Given the description of an element on the screen output the (x, y) to click on. 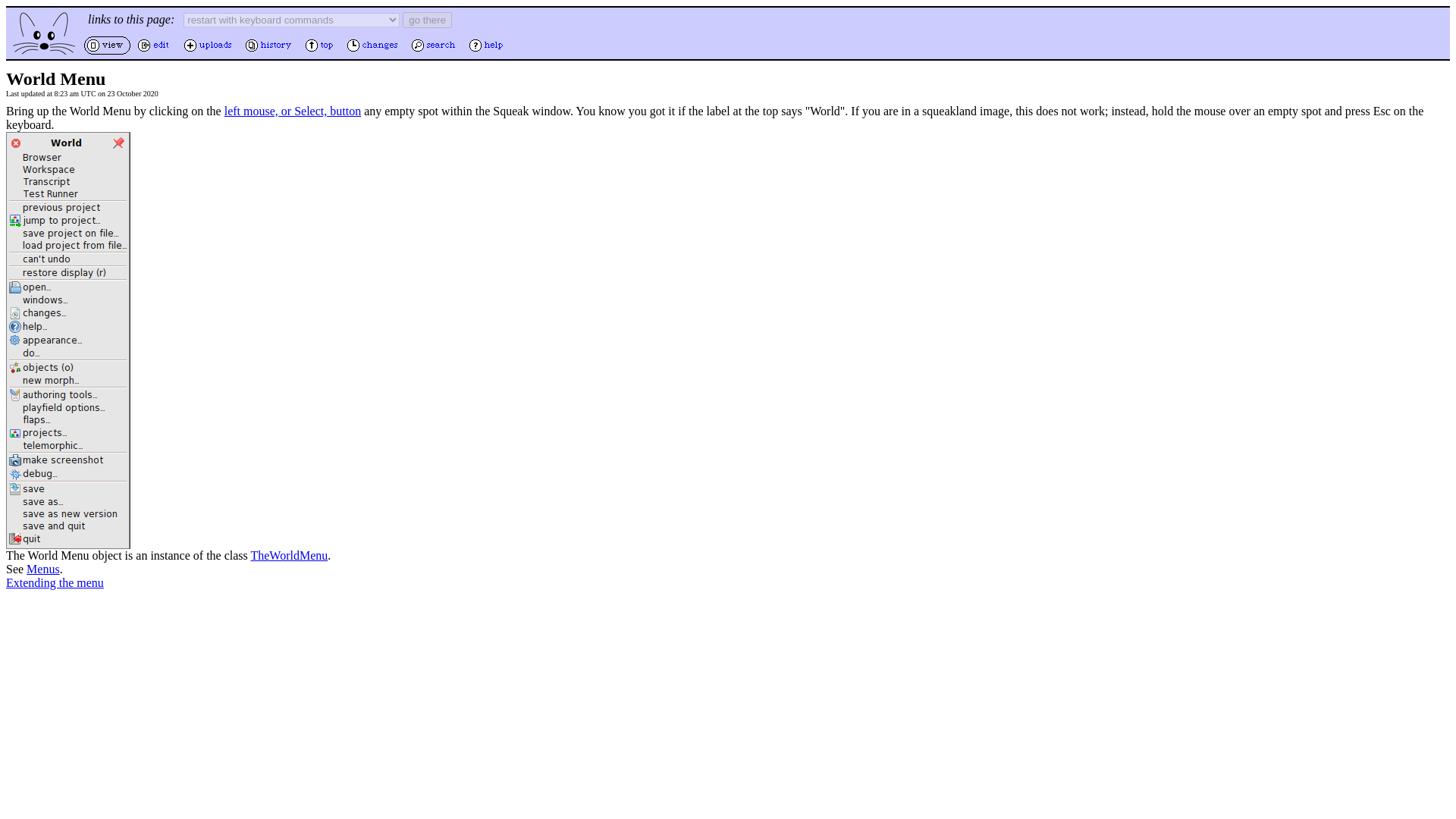
Extending the menu (54, 582)
TheWorldMenu (288, 554)
Recent Changes (374, 51)
left mouse, or Select, button (292, 110)
History of this Page (269, 51)
Menus (42, 568)
go there (427, 19)
Top of the Swiki (320, 51)
